Given the description of an element on the screen output the (x, y) to click on. 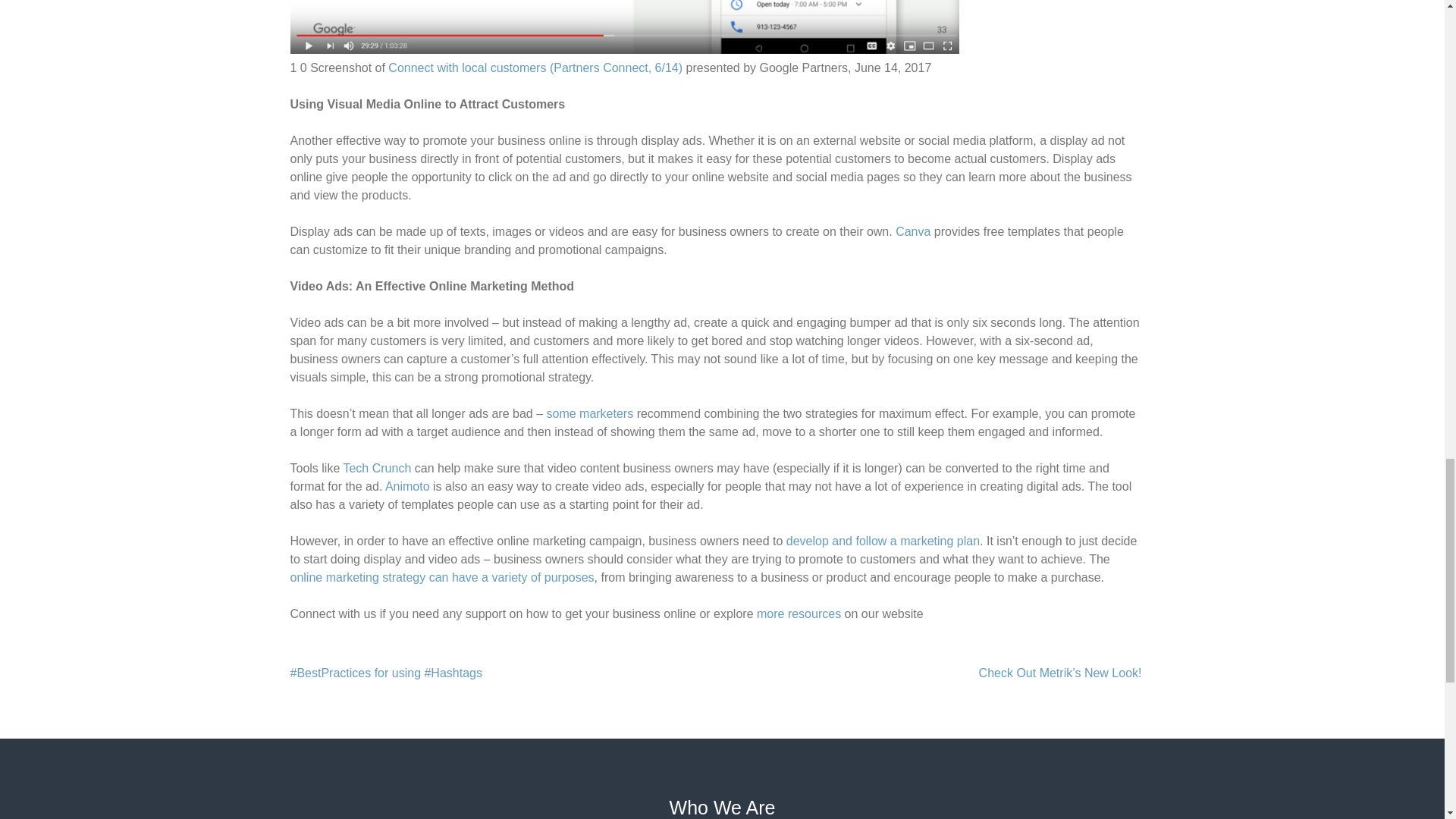
Who We Are (722, 807)
more resources (799, 613)
online marketing strategy can have a variety of purposes (441, 576)
Tech Crunch (376, 468)
some marketers (589, 413)
Canva (912, 231)
develop and follow a marketing plan (882, 540)
Animoto (407, 486)
